Given the description of an element on the screen output the (x, y) to click on. 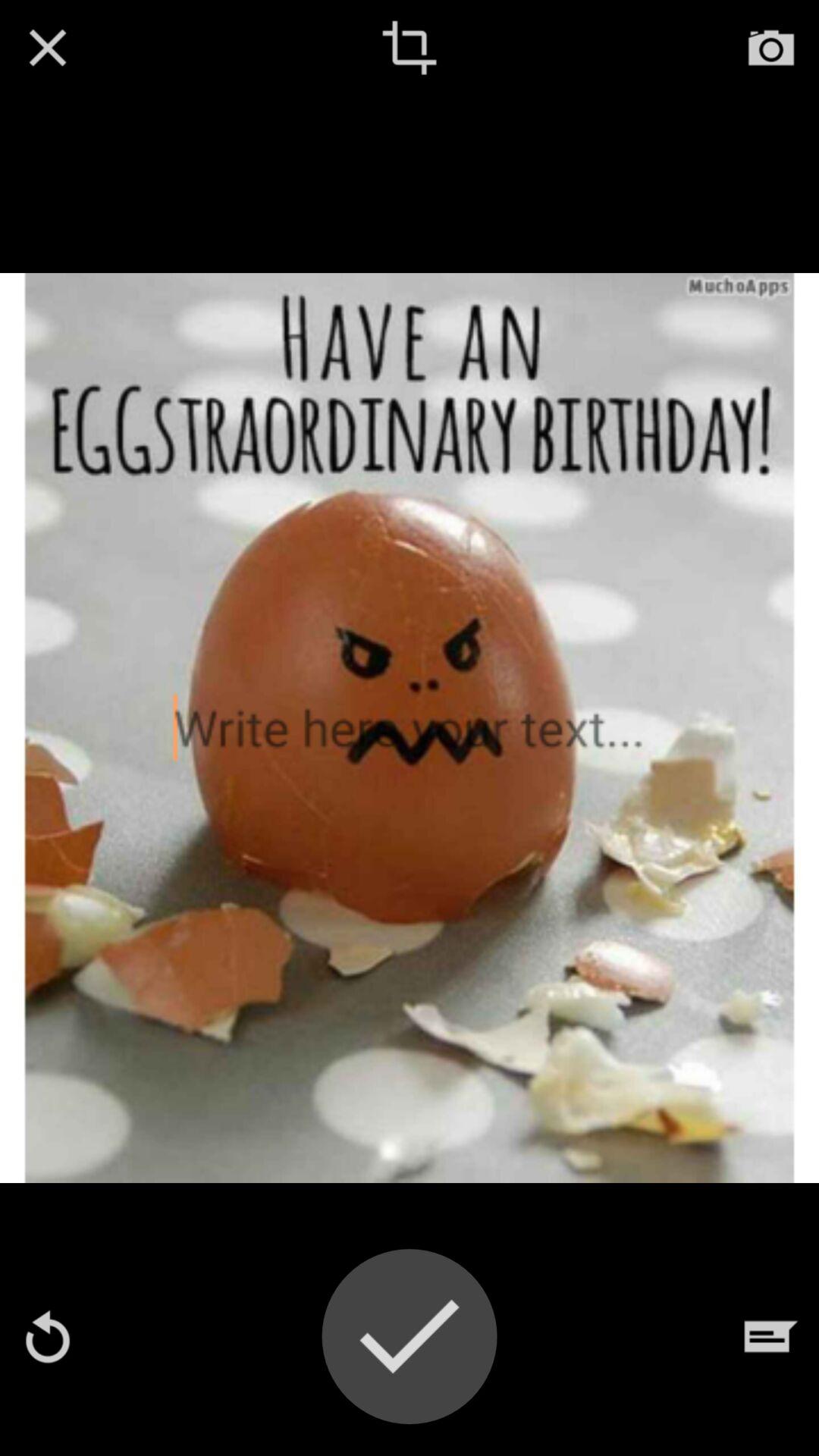
undo change (47, 1336)
